Given the description of an element on the screen output the (x, y) to click on. 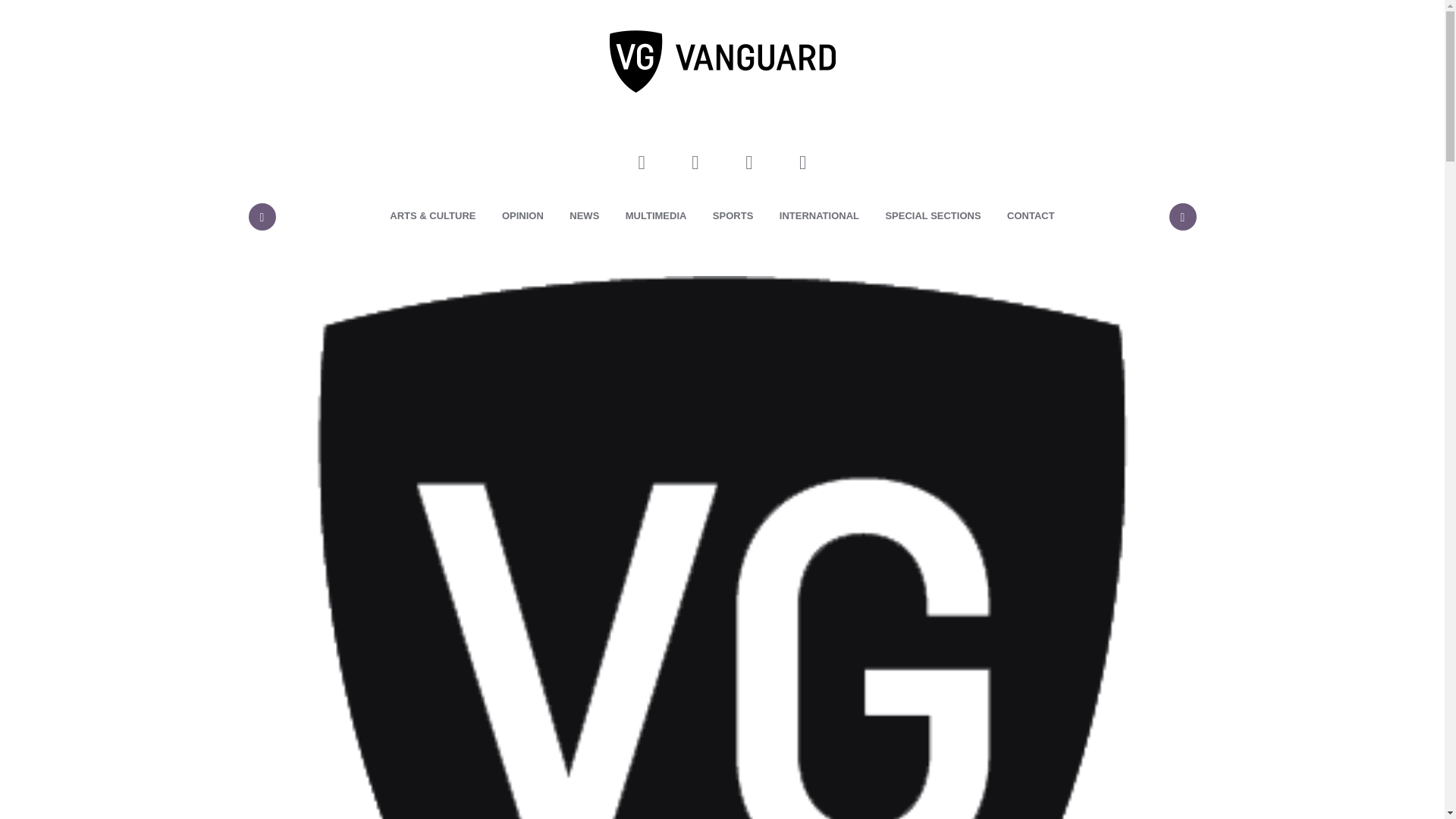
SPORTS (732, 215)
MULTIMEDIA (656, 215)
NEWS (583, 215)
OPINION (522, 215)
SPECIAL SECTIONS (932, 215)
INTERNATIONAL (819, 215)
CONTACT (1030, 215)
